Given the description of an element on the screen output the (x, y) to click on. 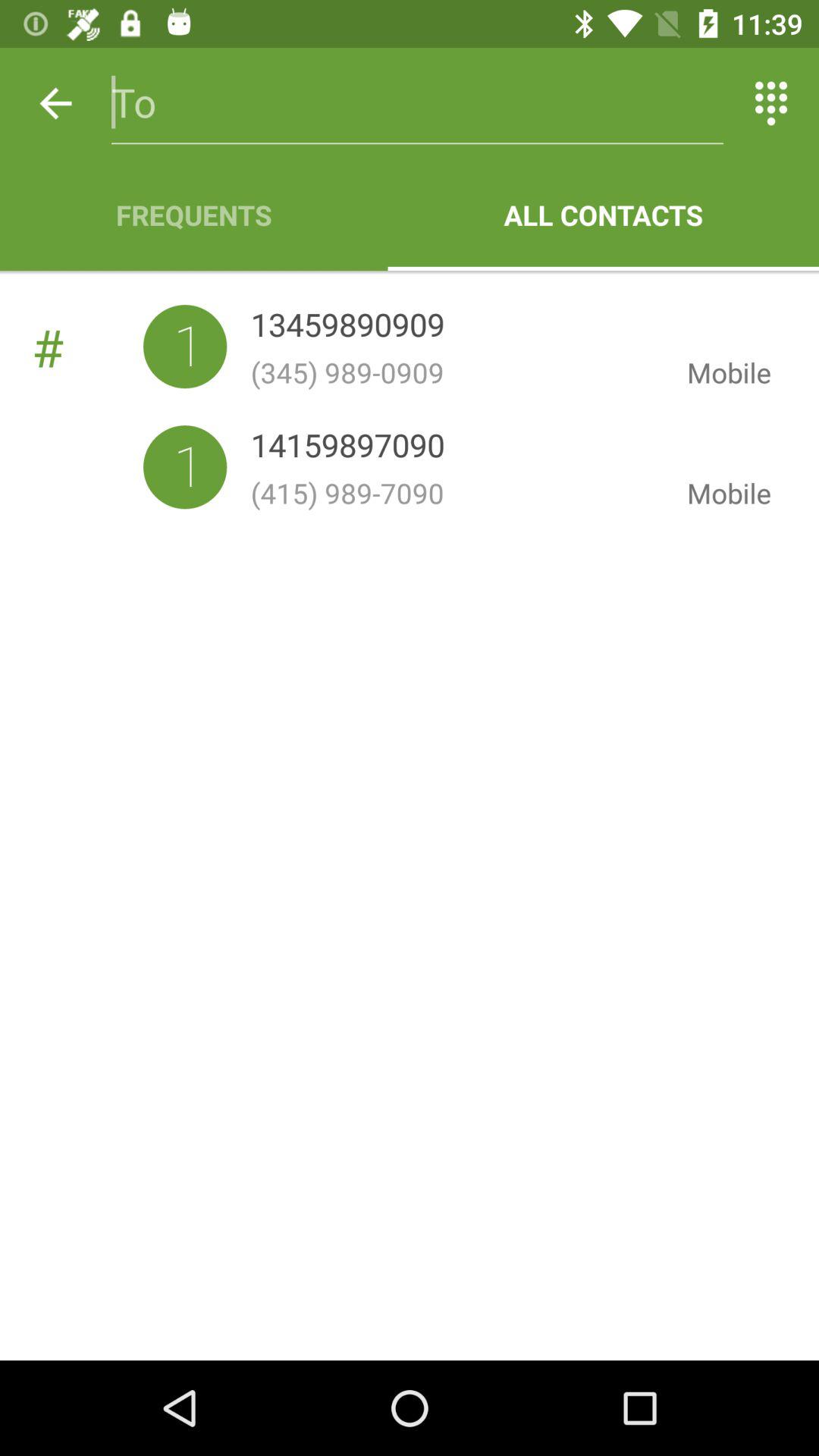
press icon next to mobile item (347, 448)
